Given the description of an element on the screen output the (x, y) to click on. 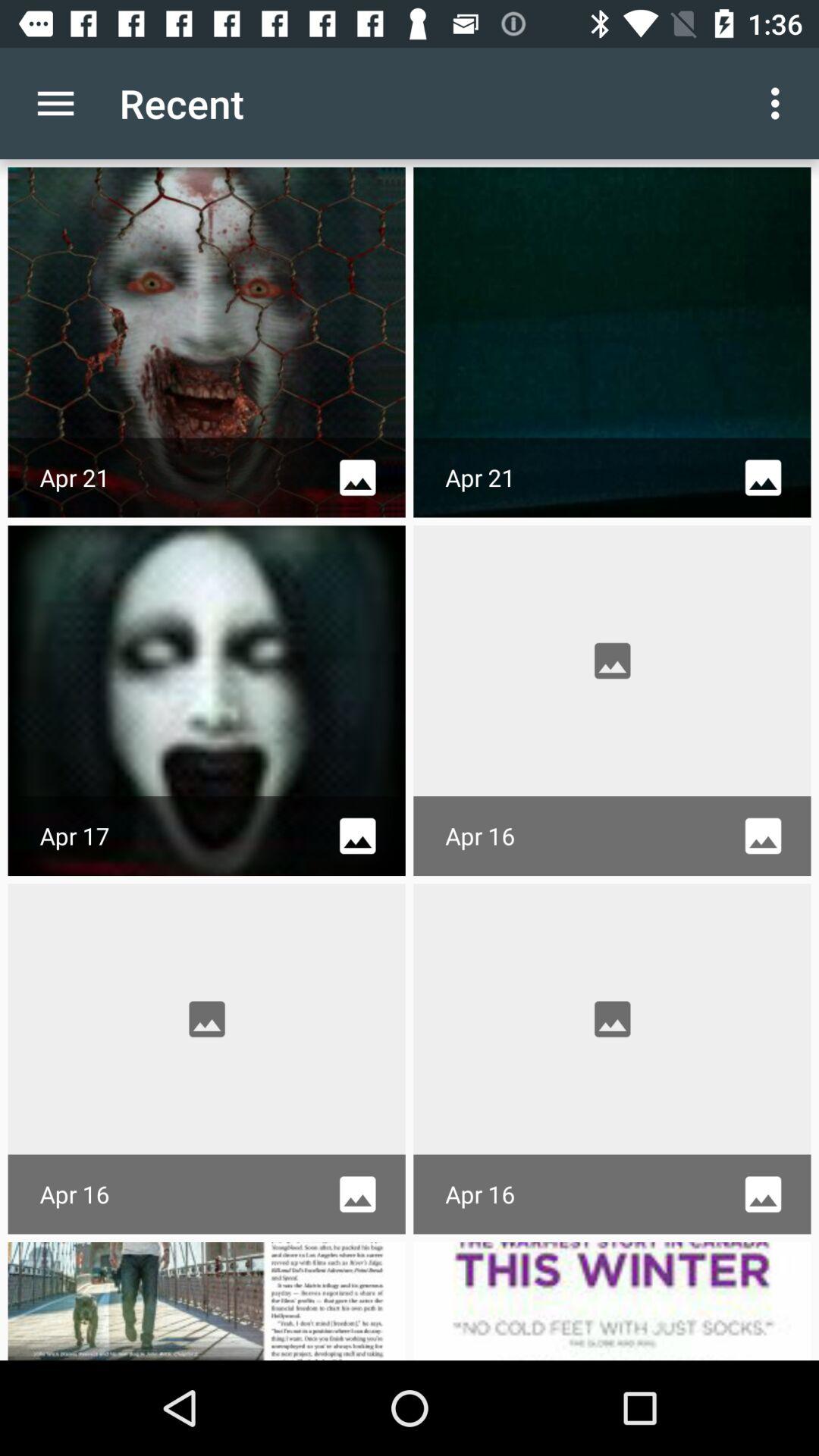
choose the app to the right of recent app (779, 103)
